Given the description of an element on the screen output the (x, y) to click on. 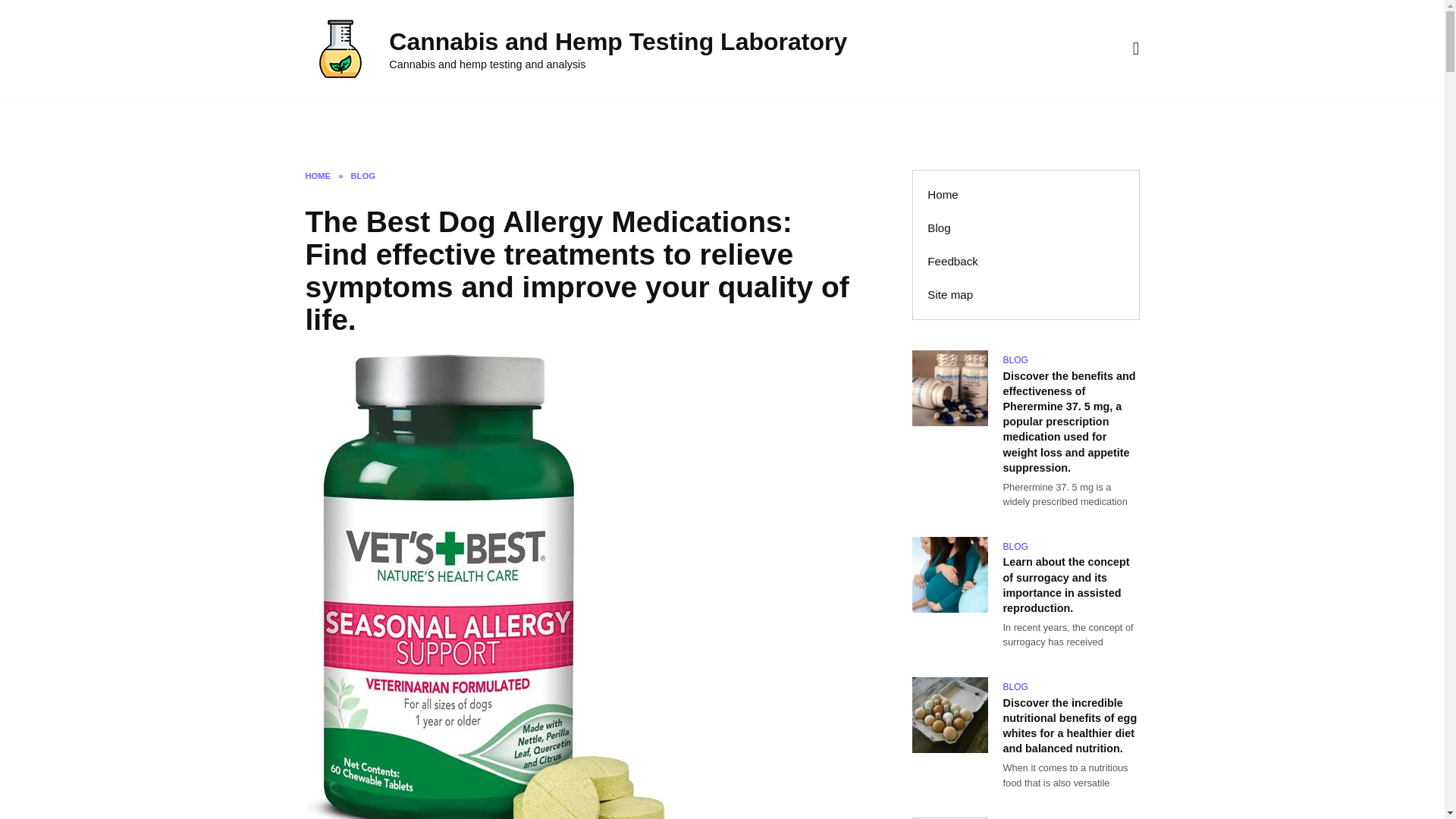
Blog (378, 122)
Site map (950, 295)
Site map (518, 122)
Feedback (442, 122)
Home (325, 122)
Cannabis and Hemp Testing Laboratory (617, 41)
Home (943, 194)
HOME (317, 175)
Feedback (952, 261)
